Given the description of an element on the screen output the (x, y) to click on. 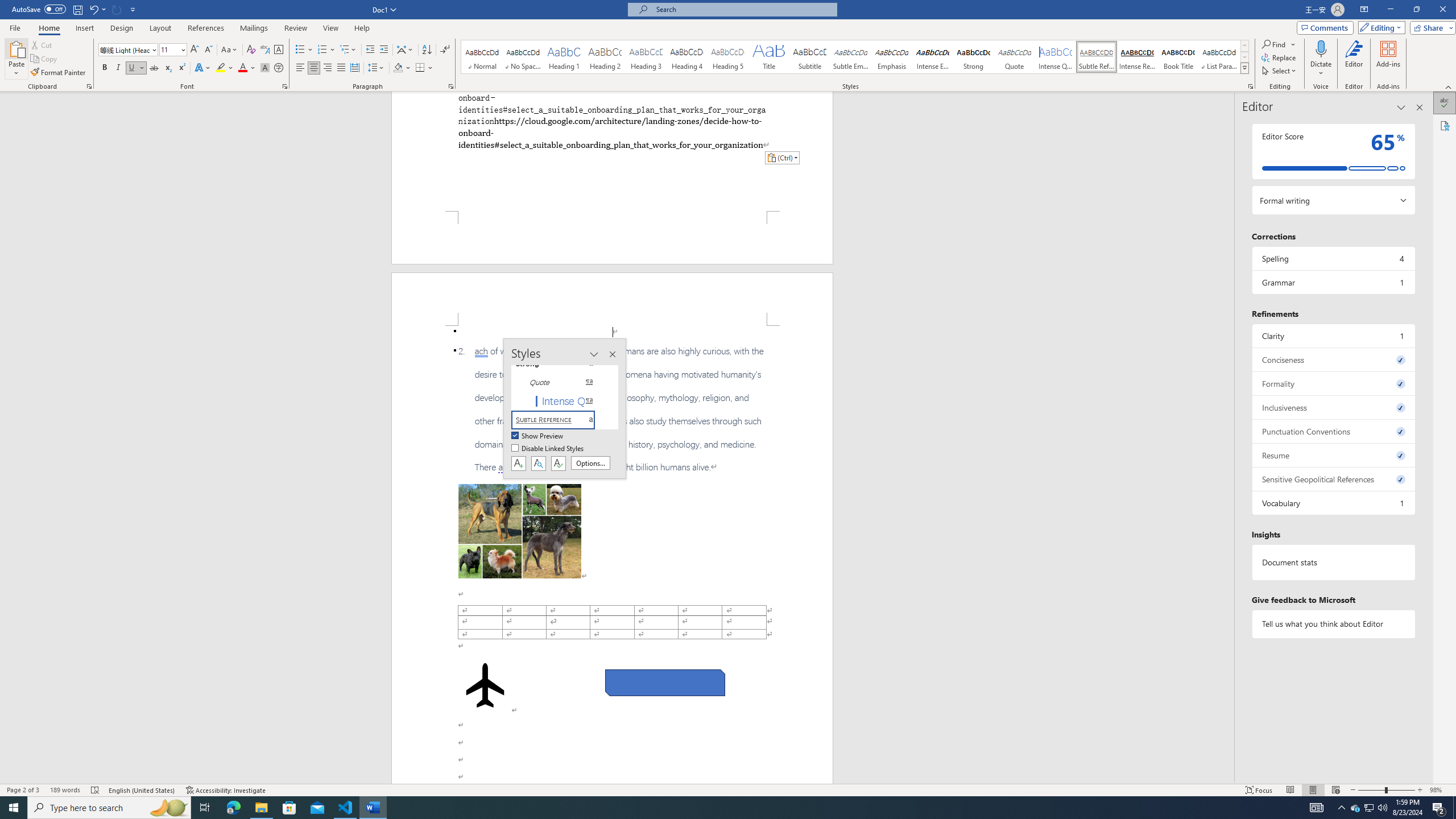
Font Color Automatic (241, 67)
